Given the description of an element on the screen output the (x, y) to click on. 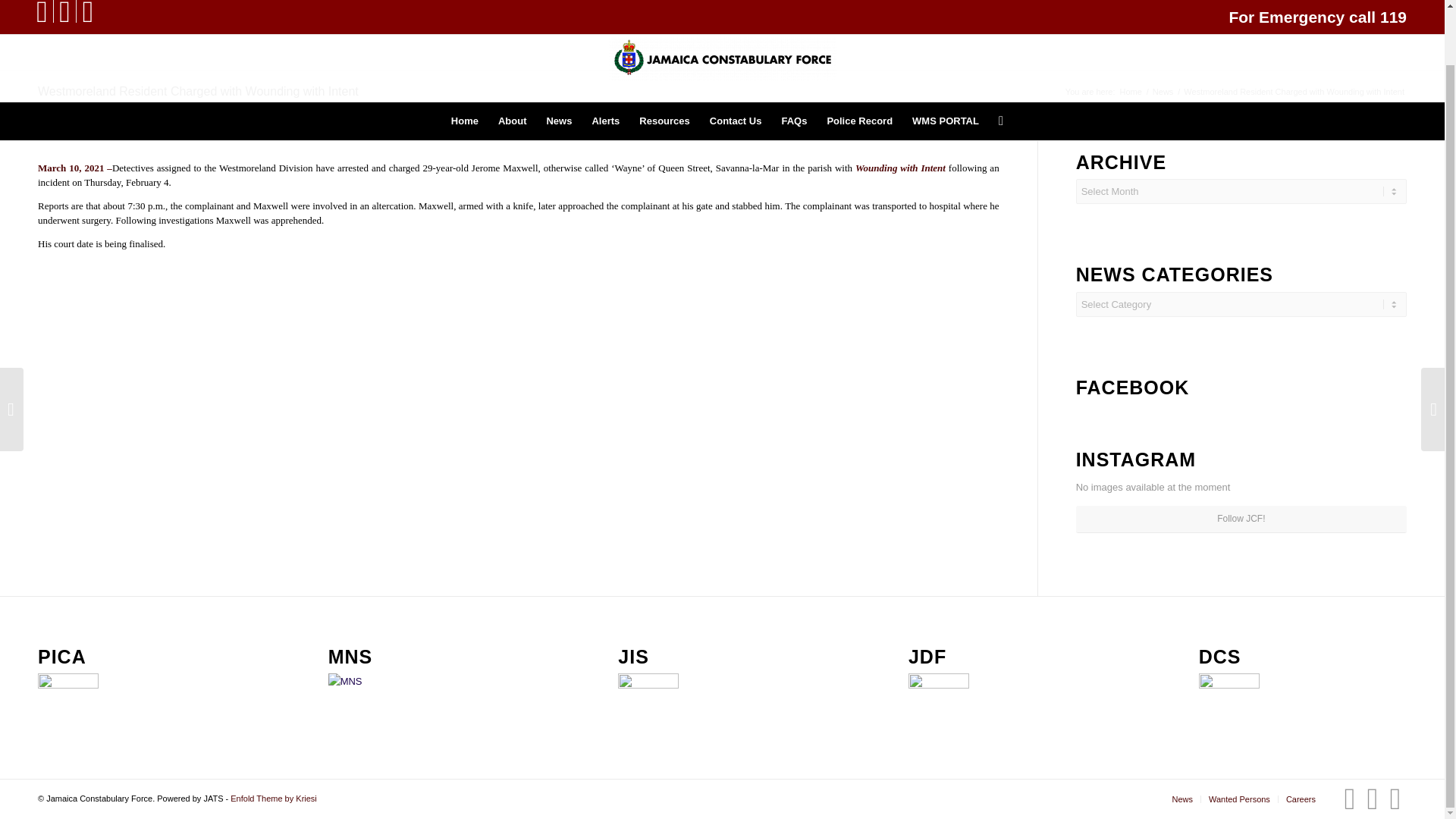
Ministry of National Security (358, 703)
Home (1131, 91)
Home (464, 62)
Resources (663, 62)
Jamaica Constabulary Force (1131, 91)
Alerts (604, 62)
X (1395, 798)
Westmoreland Resident Charged with Wounding with Intent (197, 91)
Contact Us (735, 62)
Facebook (1349, 798)
About (512, 62)
Police Record (859, 62)
WMS PORTAL (945, 62)
News (557, 62)
